Given the description of an element on the screen output the (x, y) to click on. 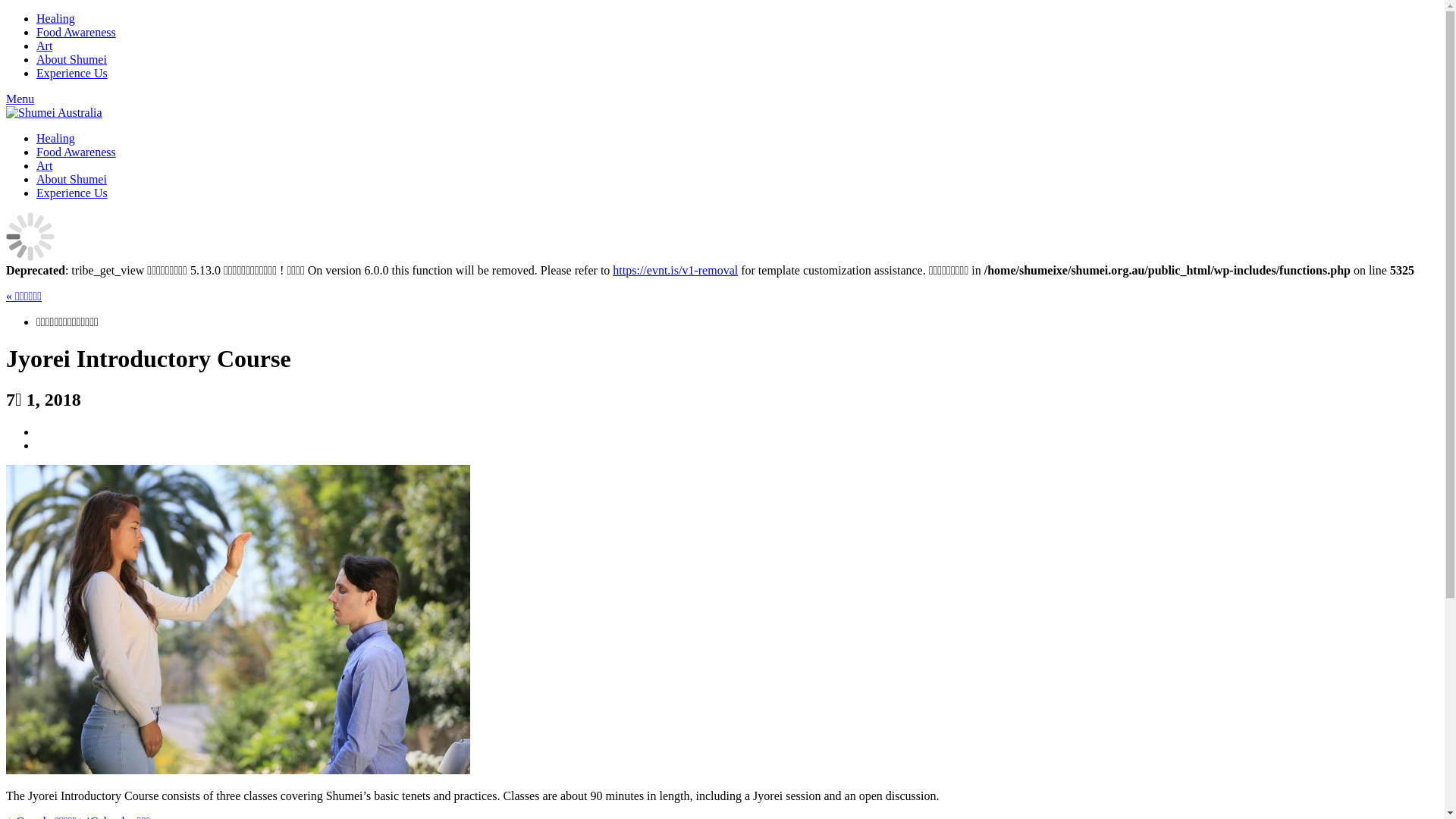
About Shumei Element type: text (71, 59)
About Shumei Element type: text (71, 178)
Food Awareness Element type: text (76, 31)
Healing Element type: text (55, 18)
Experience Us Element type: text (71, 72)
Menu Element type: text (20, 98)
https://evnt.is/v1-removal Element type: text (674, 269)
Healing Element type: text (55, 137)
Art Element type: text (44, 45)
Food Awareness Element type: text (76, 151)
Art Element type: text (44, 165)
Experience Us Element type: text (71, 192)
